Given the description of an element on the screen output the (x, y) to click on. 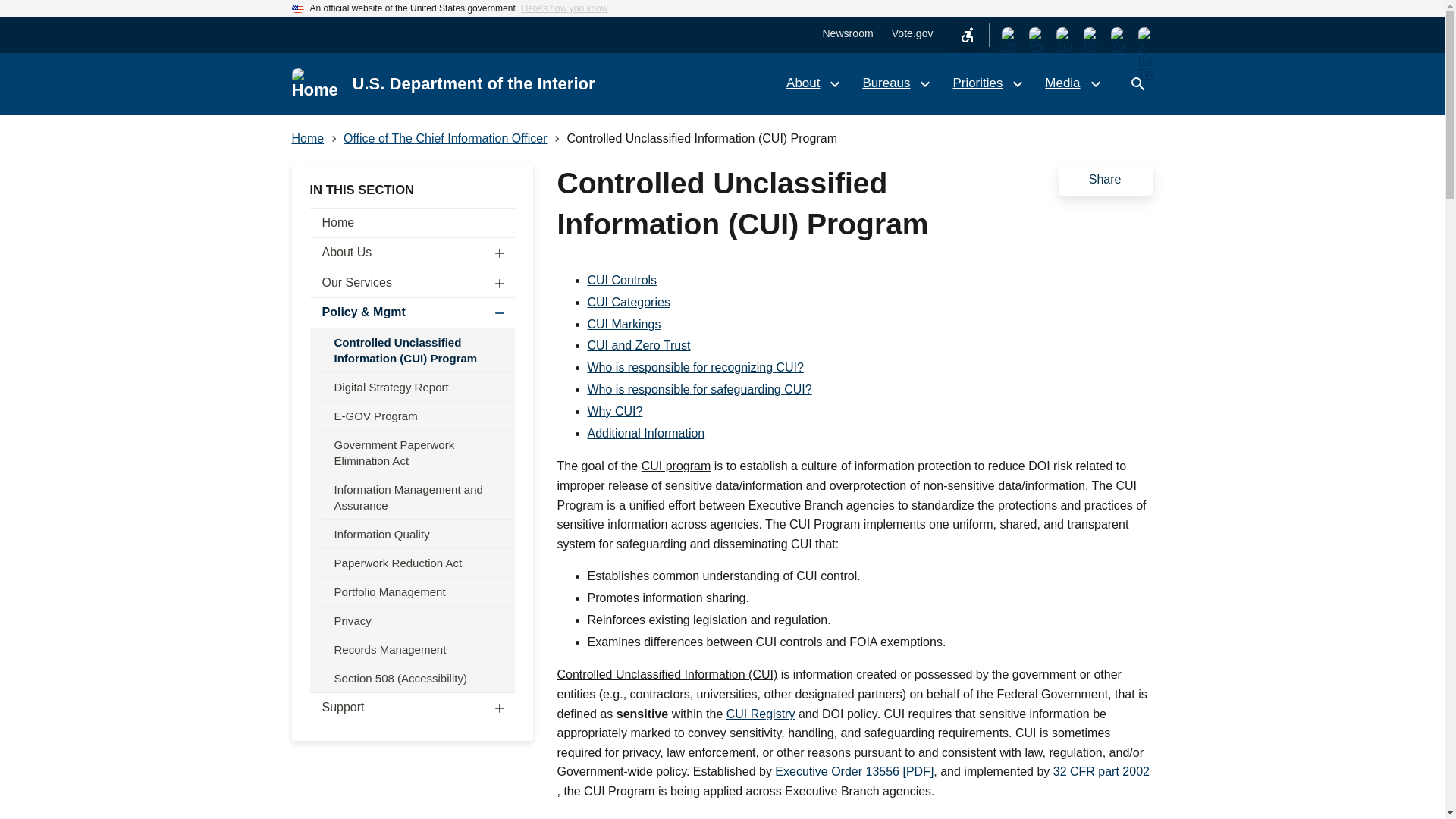
U.S. Department of the Interior (473, 83)
U.S. Department of the Interior (473, 83)
Search (1137, 83)
Home (315, 83)
Priorities (986, 83)
Newsroom (847, 32)
Here's how you know (564, 8)
Vote.gov (912, 32)
Home (307, 137)
Office of The Chief Information Officer (445, 137)
